Given the description of an element on the screen output the (x, y) to click on. 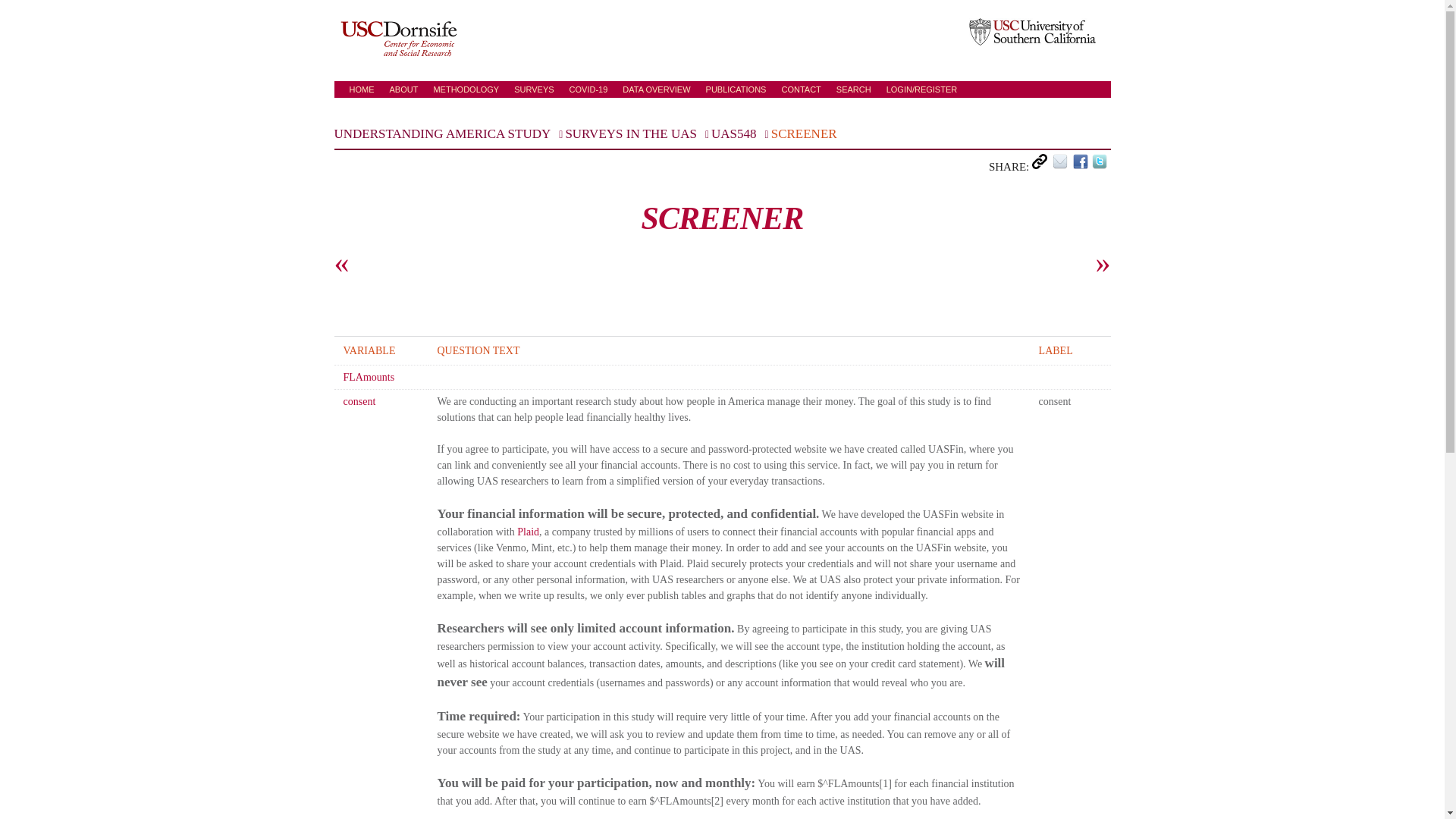
PUBLICATIONS (736, 89)
USC Dornsife Center for Economic and Social Research (398, 38)
ABOUT (404, 89)
SURVEYS (533, 89)
How the UAS works (465, 89)
UnderStanding America Study (361, 89)
COVID-19 (588, 89)
Surveys in the UAS (533, 89)
HOME (361, 89)
DATA OVERVIEW (656, 89)
University of Southern California (1032, 31)
METHODOLOGY (465, 89)
Learn more about the UAS (404, 89)
